Given the description of an element on the screen output the (x, y) to click on. 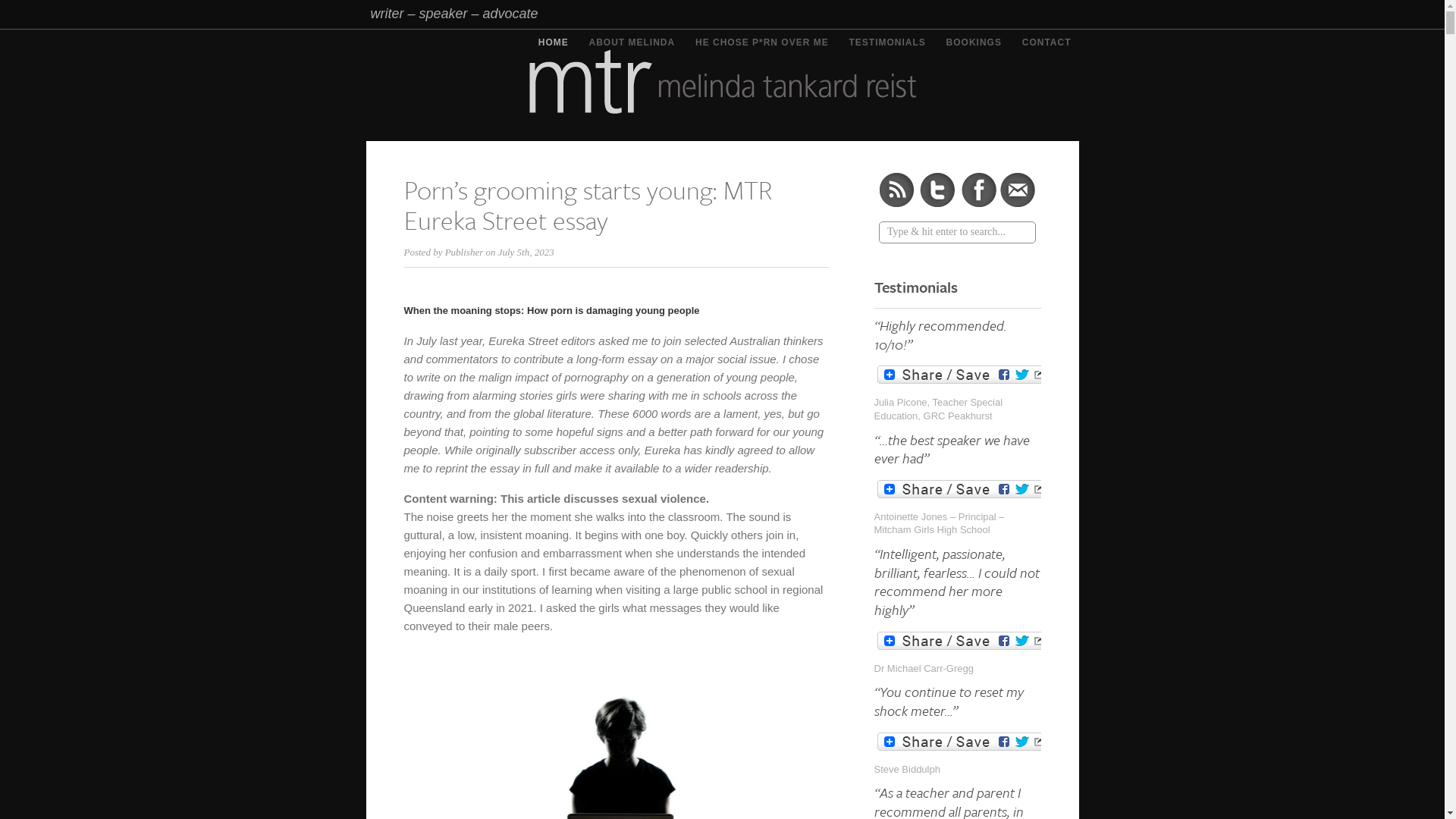
Subscribe via Facebook Element type: hover (978, 189)
HOME Element type: text (553, 46)
CONTACT Element type: text (1046, 42)
HE CHOSE P*RN OVER ME Element type: text (761, 42)
Subscribe via Email Element type: hover (1017, 189)
Melinda Tankard Reist Element type: text (721, 81)
BOOKINGS Element type: text (973, 42)
ABOUT MELINDA Element type: text (632, 42)
Subscribe via RSS Element type: hover (895, 189)
TESTIMONIALS Element type: text (886, 42)
Subscribe via Twitter Element type: hover (936, 189)
